Given the description of an element on the screen output the (x, y) to click on. 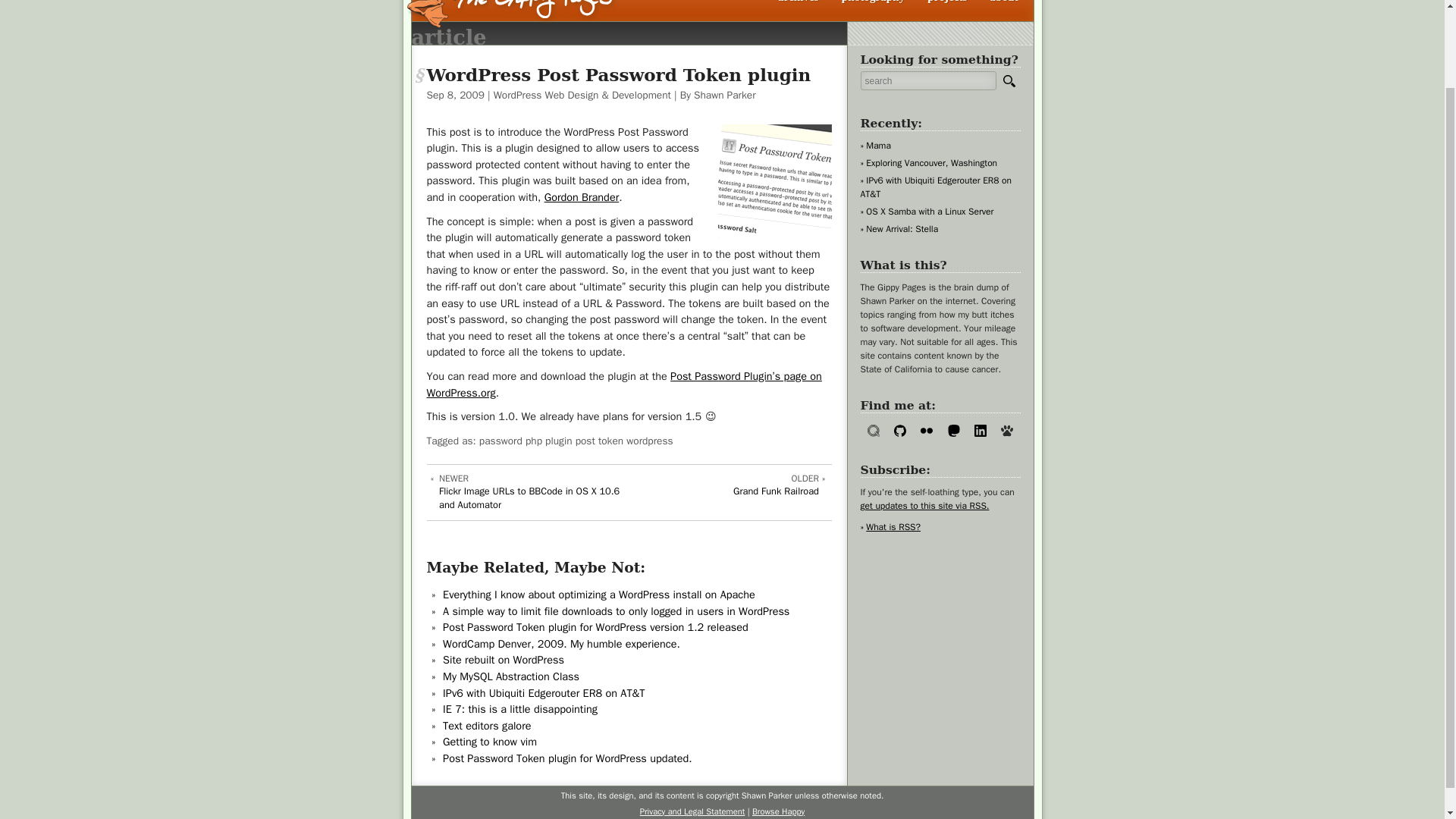
about (1003, 3)
photography (873, 3)
What is RSS? (890, 526)
Gordon Brander (582, 196)
Site rebuilt on WordPress (503, 659)
projects (724, 492)
Getting to know vim (946, 3)
Text editors galore (489, 741)
Mama (486, 725)
My MySQL Abstraction Class (874, 145)
get updates to this site via RSS. (510, 676)
